Given the description of an element on the screen output the (x, y) to click on. 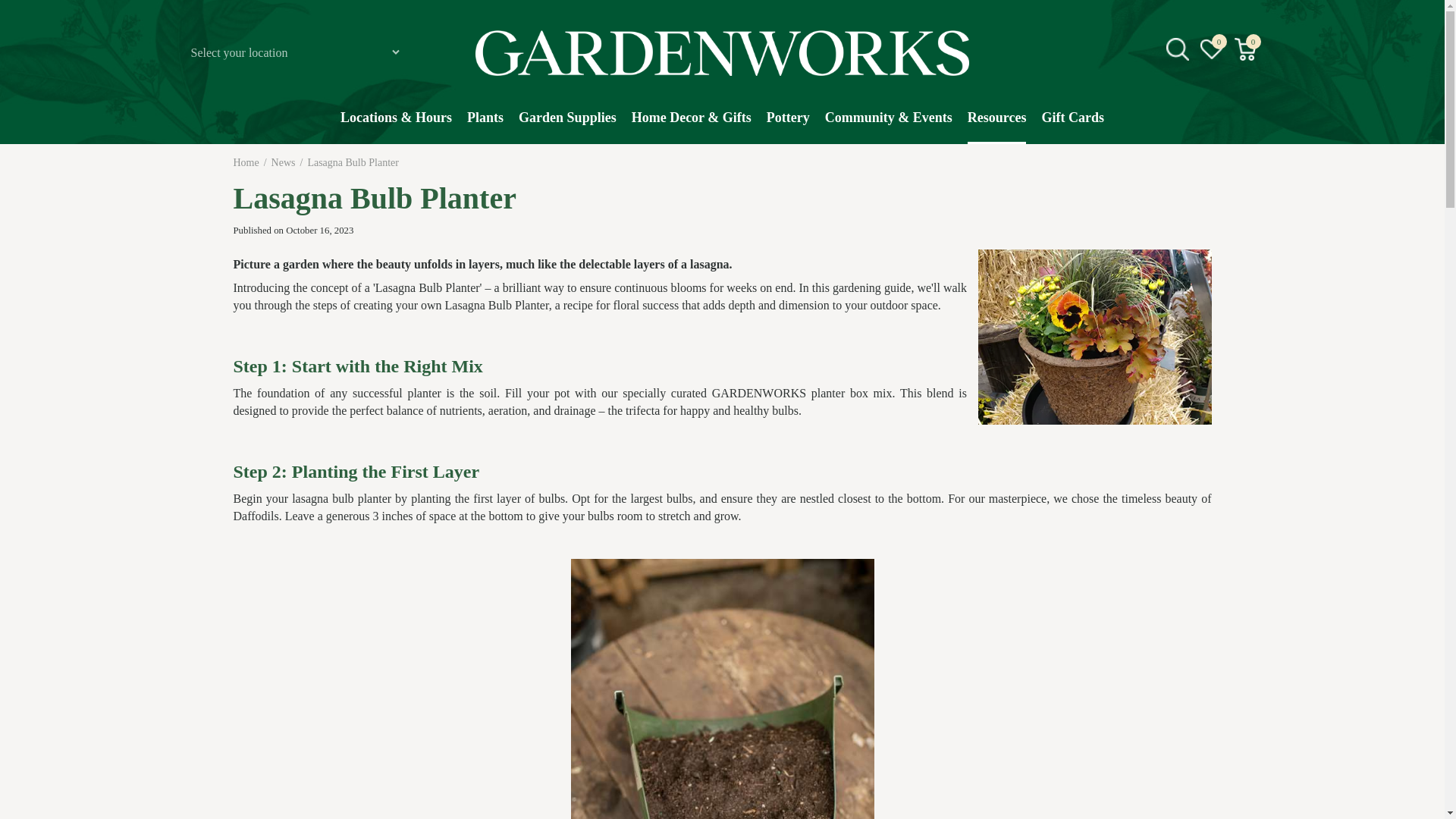
src (1177, 48)
Garden Supplies (566, 125)
Go to the shopping cart (1245, 48)
No items in wishlist (1211, 48)
Search (1241, 168)
Home (245, 162)
Go to the wishlist (1211, 48)
Home (245, 162)
News (282, 162)
